Given the description of an element on the screen output the (x, y) to click on. 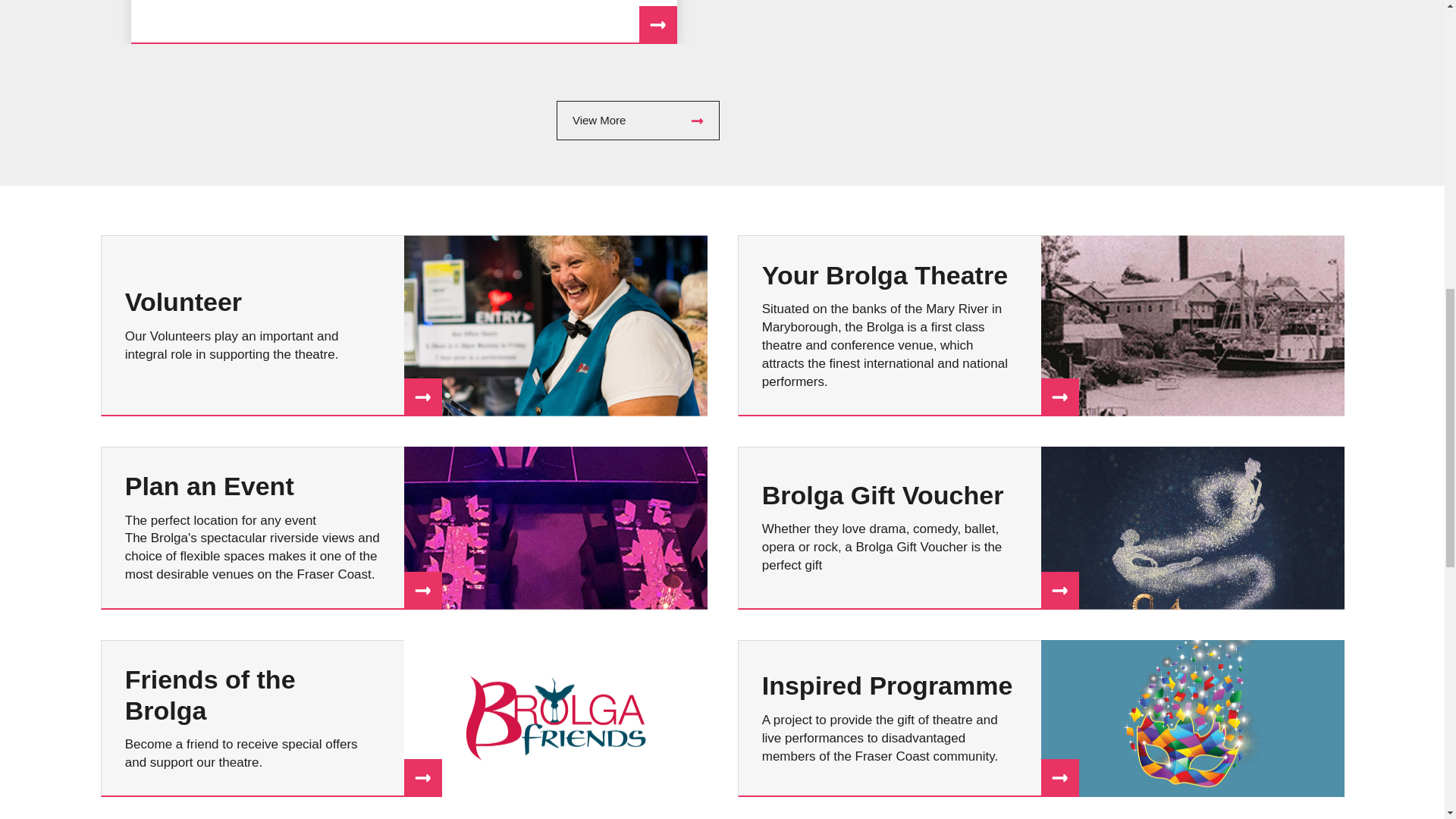
View More (637, 119)
Volunteer brolga foyer (554, 325)
Brolga foyer (554, 527)
Brolga Gift Voucher Wish (1192, 527)
Brolga history1938 (1192, 325)
Brolga Friends (554, 718)
inspired mask (1192, 718)
